Given the description of an element on the screen output the (x, y) to click on. 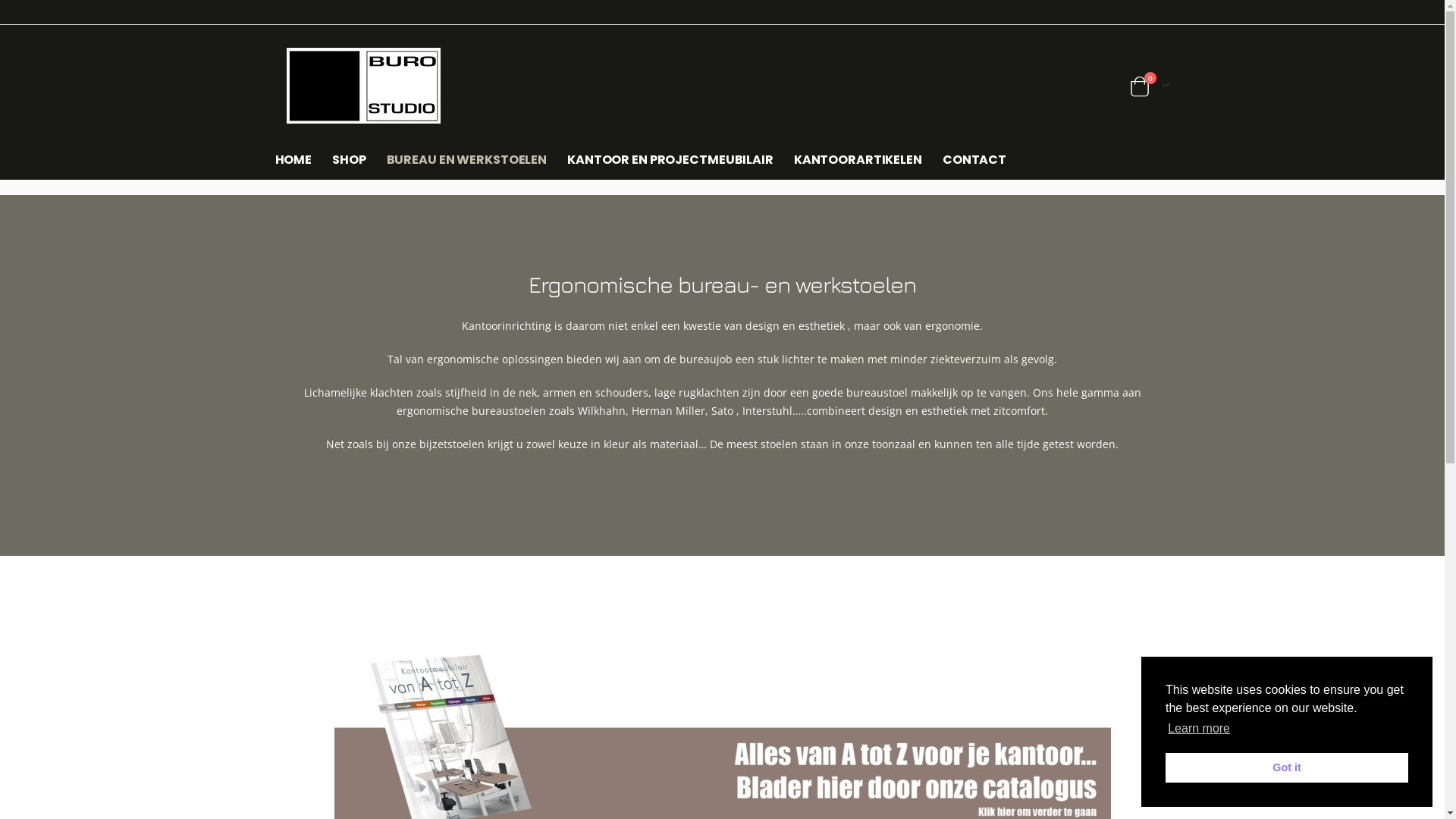
Learn more Element type: text (1198, 728)
Got it Element type: text (1286, 767)
KANTOORARTIKELEN Element type: text (857, 159)
CONTACT Element type: text (974, 159)
BUREAU EN WERKSTOELEN Element type: text (466, 159)
KANTOOR EN PROJECTMEUBILAIR Element type: text (670, 159)
HOME Element type: text (297, 159)
SHOP Element type: text (349, 159)
